Given the description of an element on the screen output the (x, y) to click on. 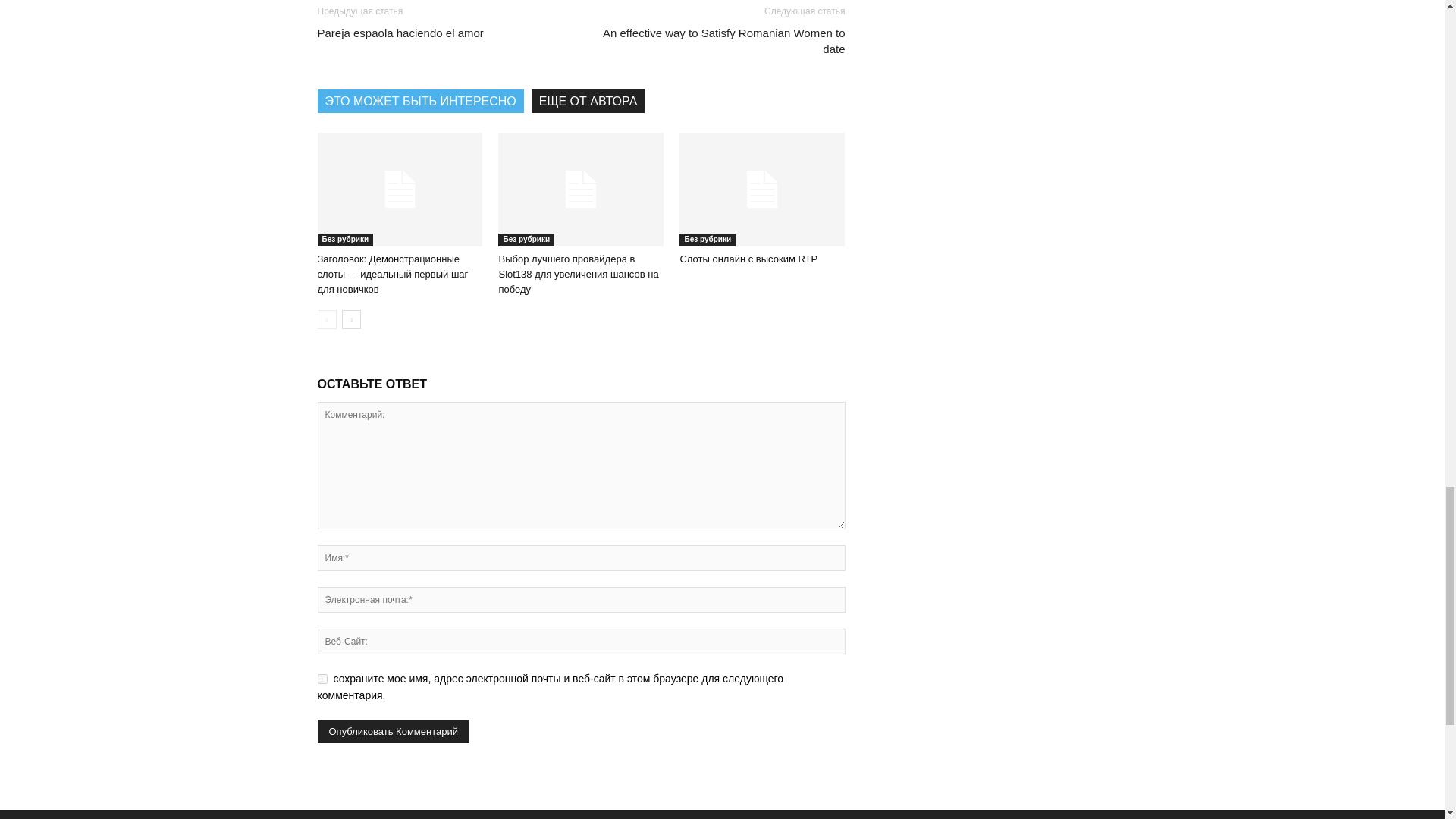
yes (321, 678)
